Given the description of an element on the screen output the (x, y) to click on. 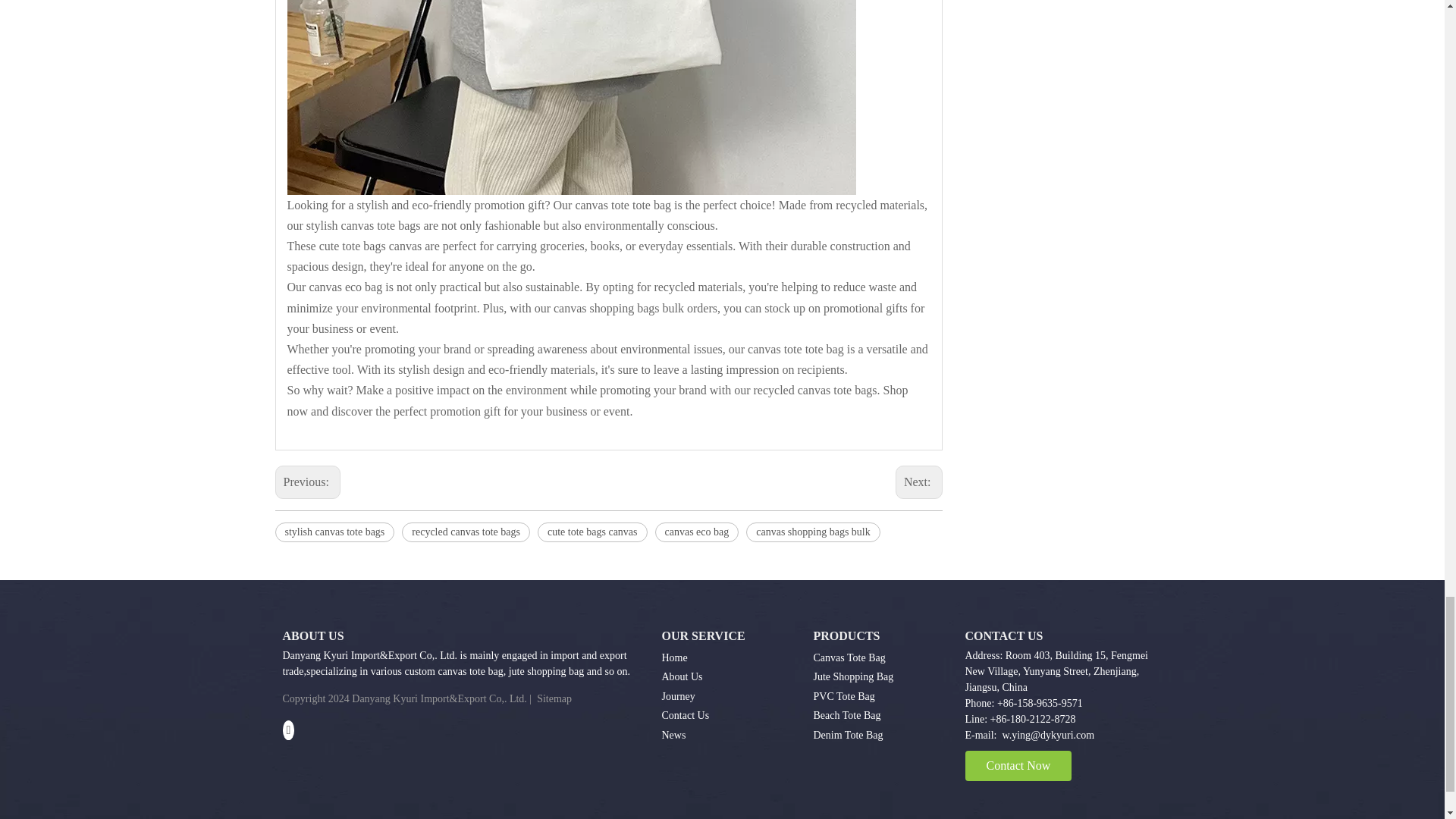
recycled canvas tote bags (465, 532)
Jute Shopping Bag (852, 676)
canvas shopping bags bulk (812, 532)
Canvas Tote Bag (848, 657)
canvas eco bag (697, 532)
stylish canvas tote bags (334, 532)
News (673, 735)
Contact Us (685, 715)
About Us (681, 676)
Home (674, 657)
